Given the description of an element on the screen output the (x, y) to click on. 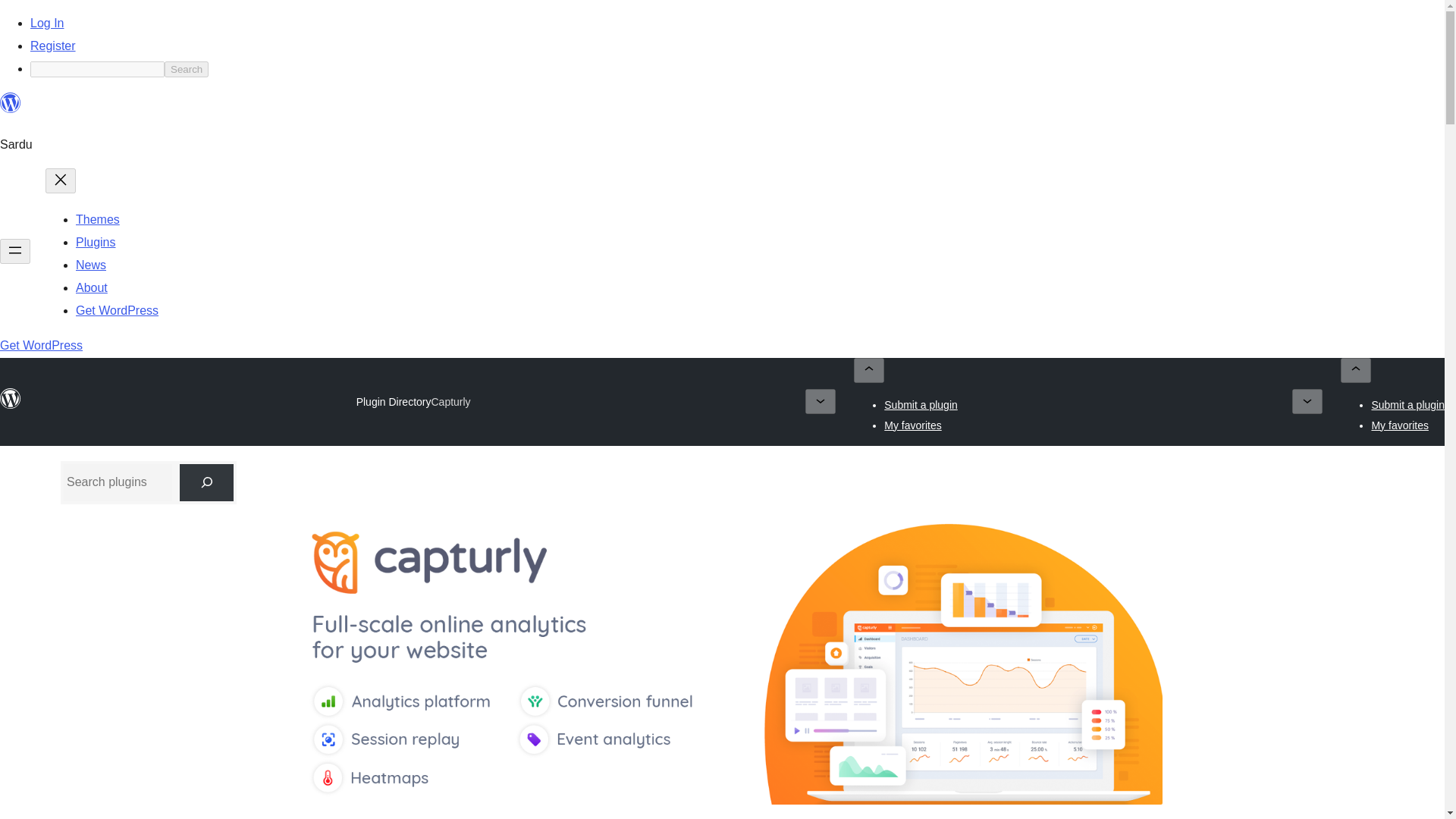
Search (186, 68)
Plugin Directory (393, 401)
WordPress.org (10, 405)
Search (186, 68)
WordPress.org (10, 102)
My favorites (911, 424)
Get WordPress (41, 345)
Get WordPress (116, 309)
WordPress.org (10, 109)
Register (52, 45)
